Given the description of an element on the screen output the (x, y) to click on. 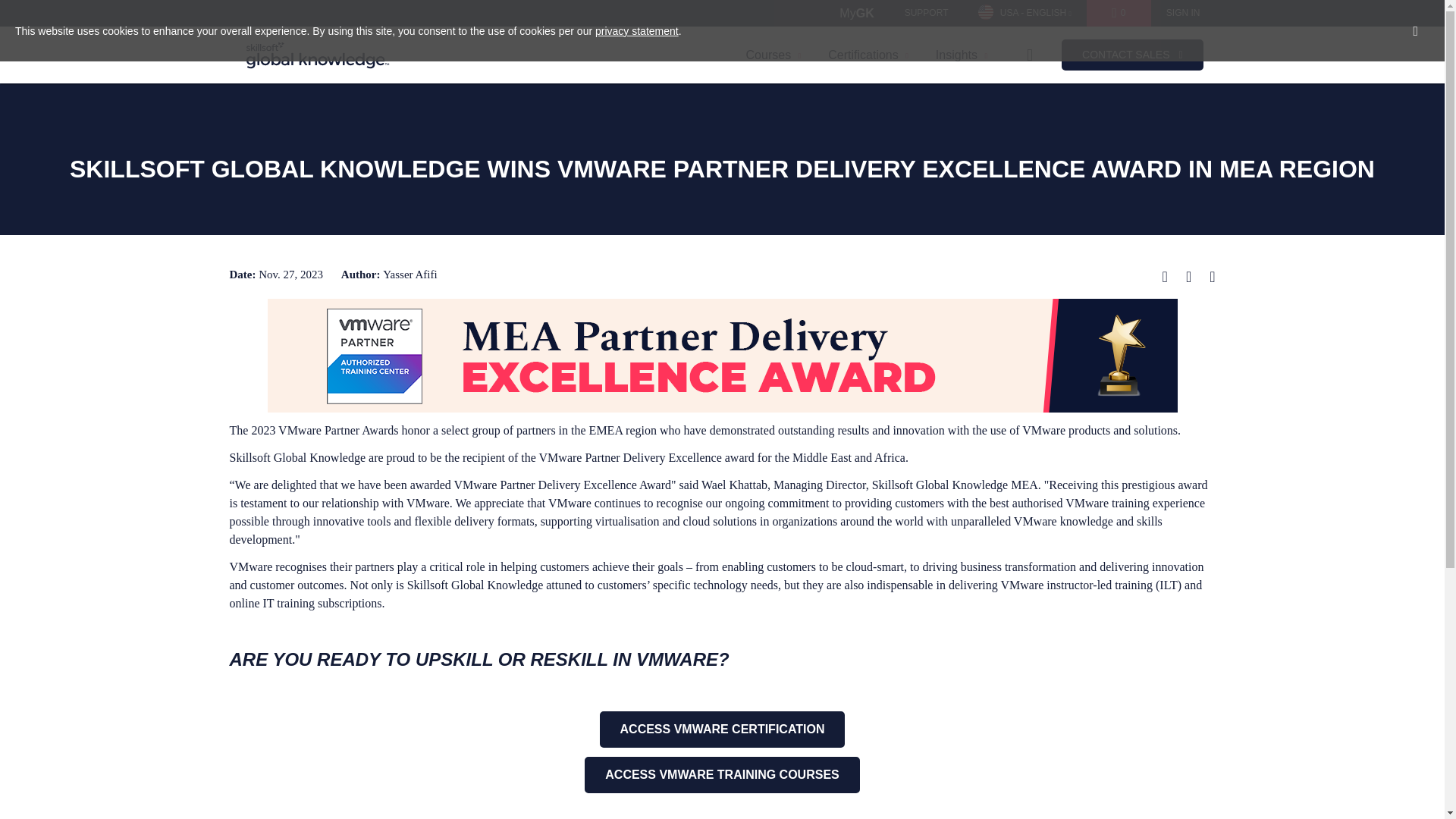
0 (1118, 13)
Courses (773, 54)
SIGN IN (1183, 13)
USA - ENGLISH (1024, 13)
SUPPORT (926, 13)
MyGK (856, 13)
